Given the description of an element on the screen output the (x, y) to click on. 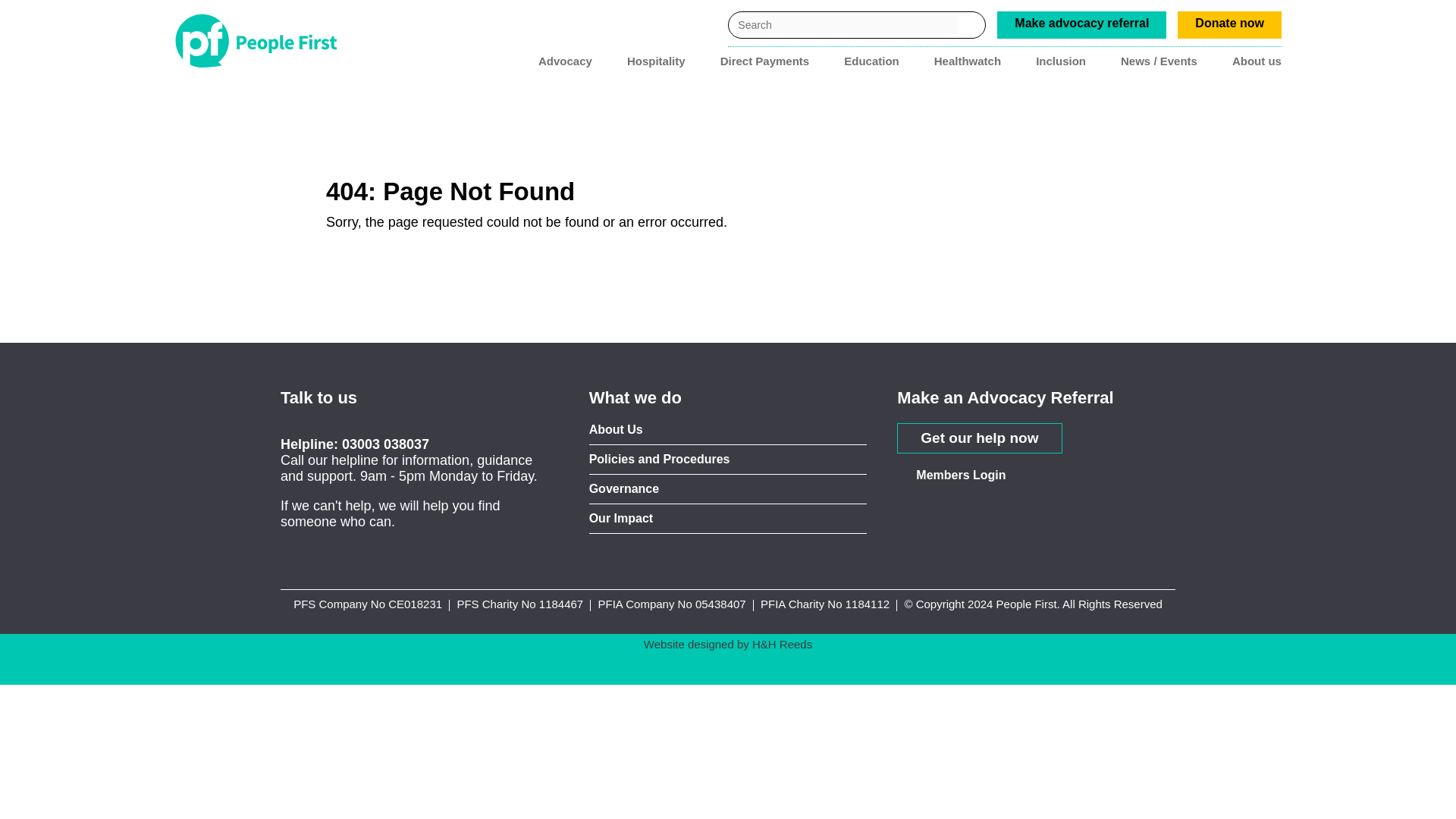
People First (260, 40)
